Given the description of an element on the screen output the (x, y) to click on. 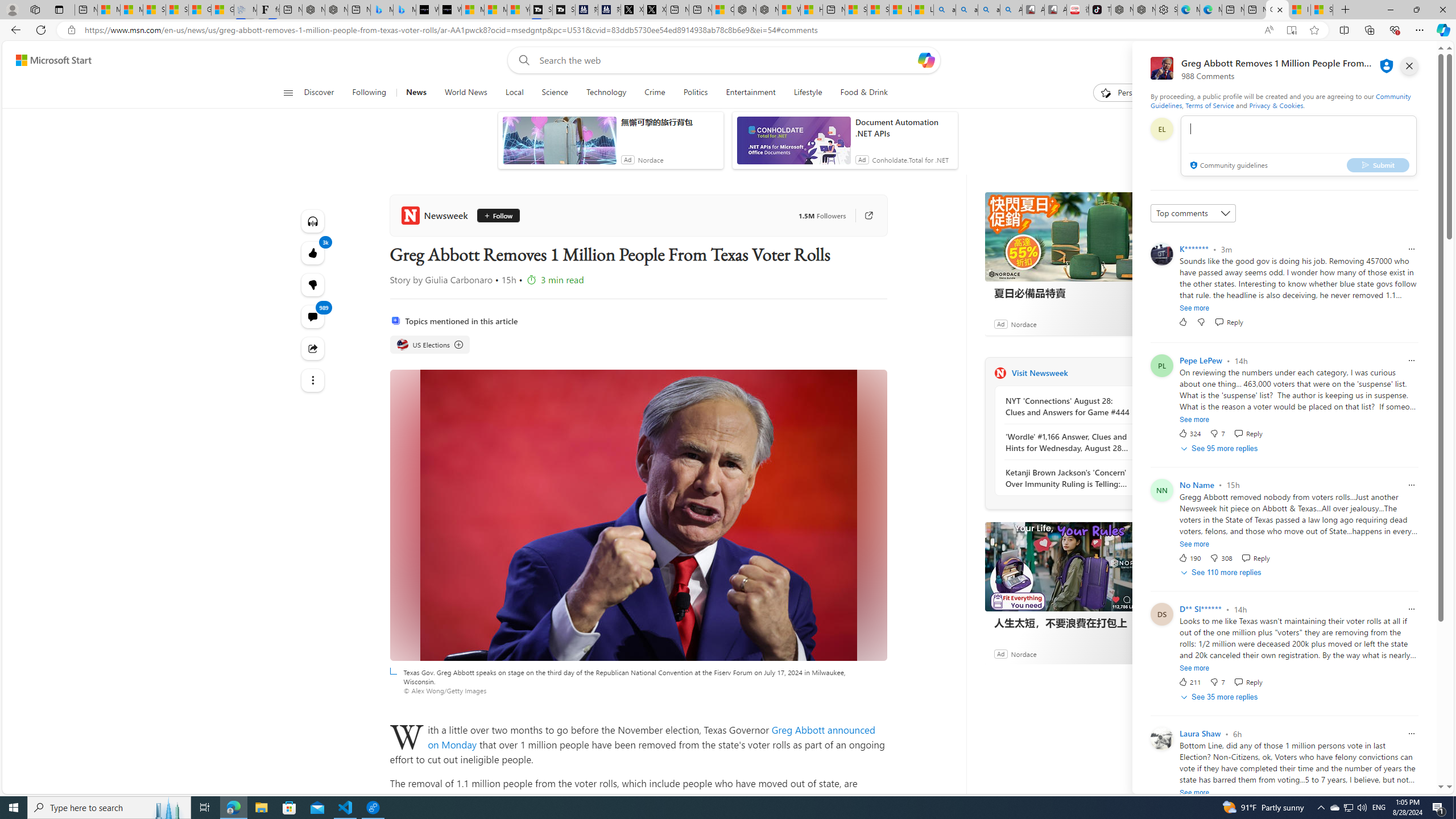
Go to publisher's site (863, 215)
See 95 more replies (1220, 448)
See 35 more replies (1220, 697)
Enter Immersive Reader (F9) (1291, 29)
Newsweek (1000, 372)
Community guidelines (1228, 165)
World News (465, 92)
Local (514, 92)
Terms of Service (1209, 104)
